Given the description of an element on the screen output the (x, y) to click on. 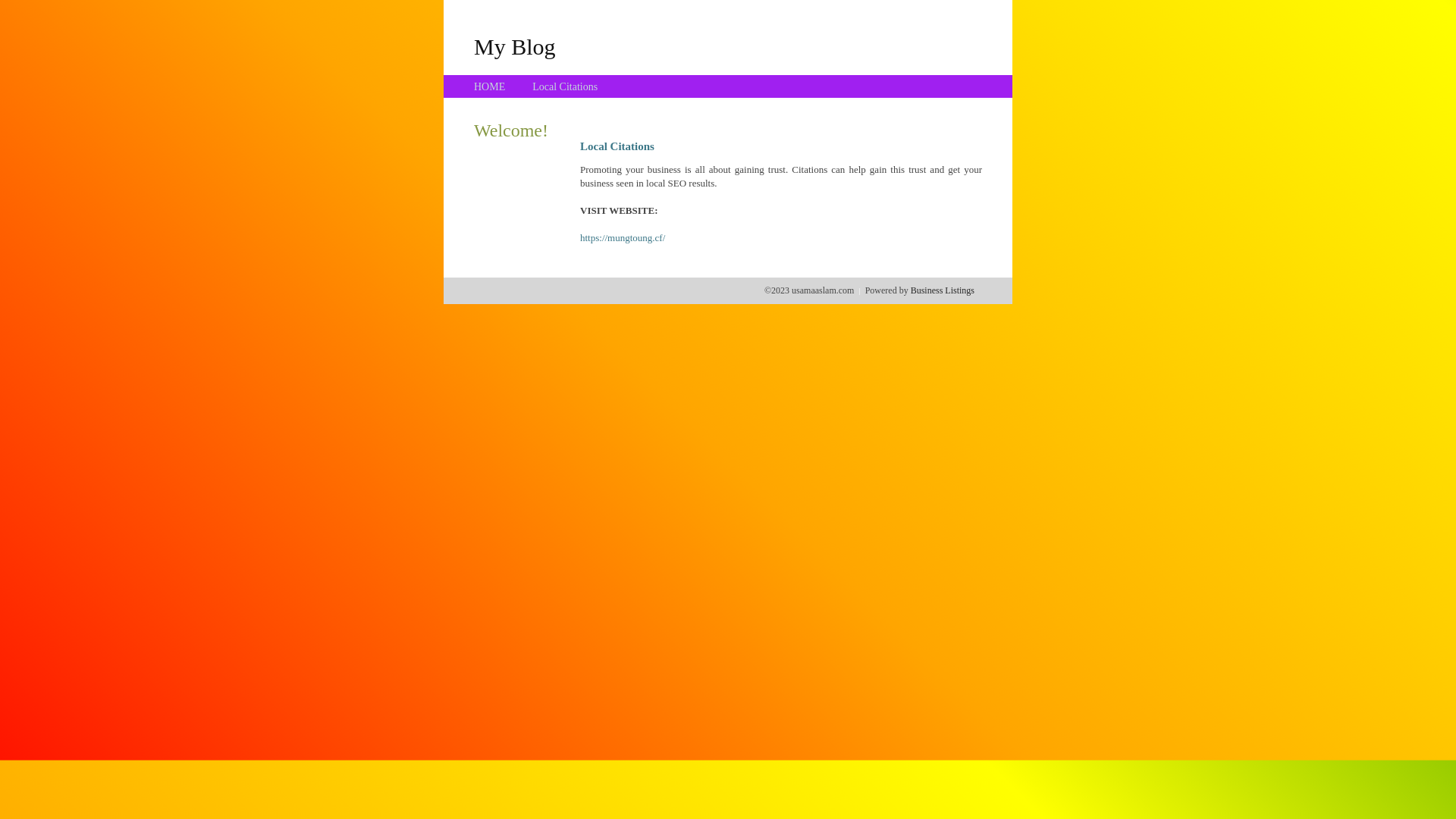
HOME Element type: text (489, 86)
Business Listings Element type: text (942, 290)
https://mungtoung.cf/ Element type: text (622, 237)
Local Citations Element type: text (564, 86)
My Blog Element type: text (514, 46)
